Given the description of an element on the screen output the (x, y) to click on. 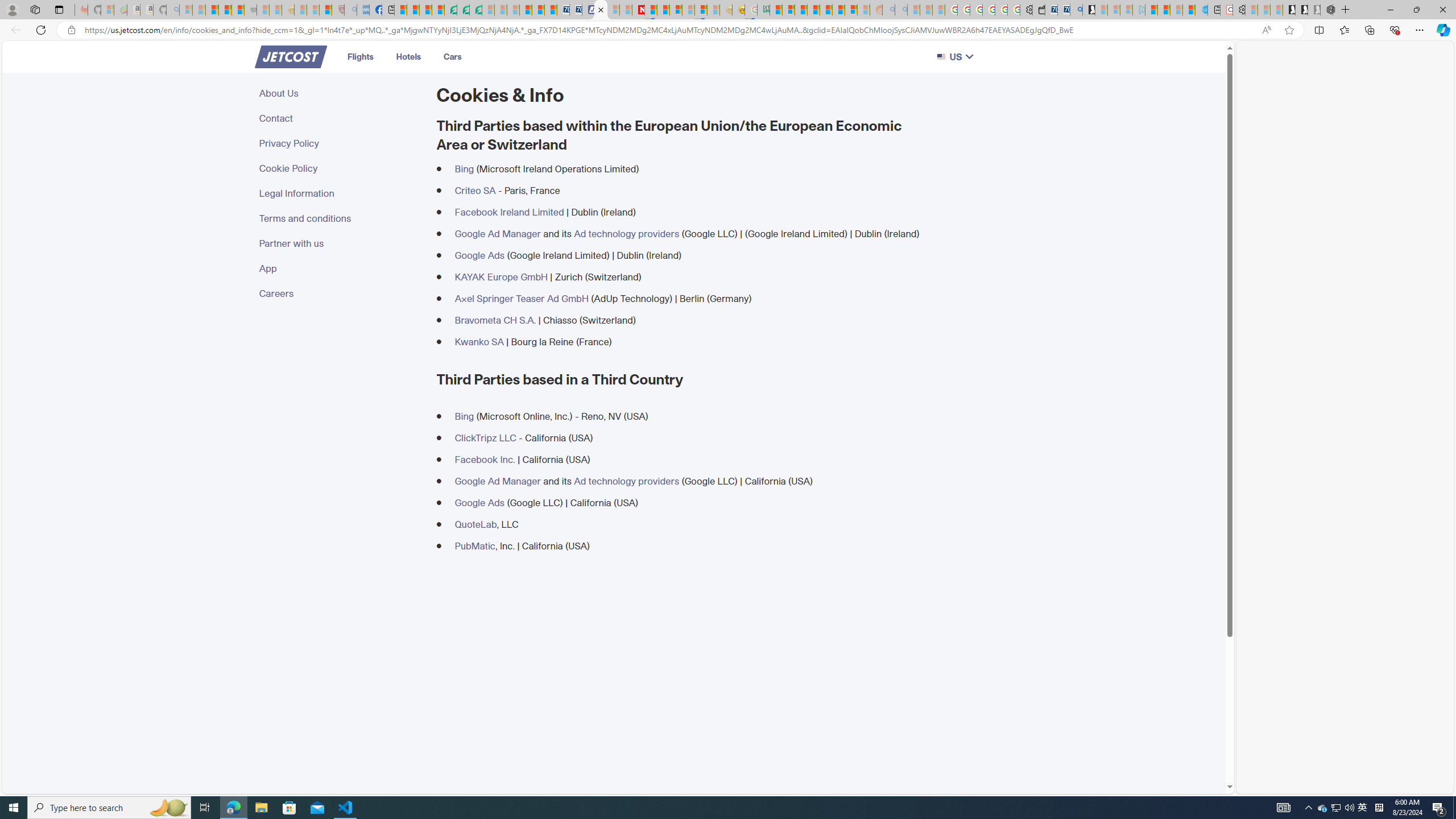
Kinda Frugal - MSN (838, 9)
LendingTree - Compare Lenders (450, 9)
